Given the description of an element on the screen output the (x, y) to click on. 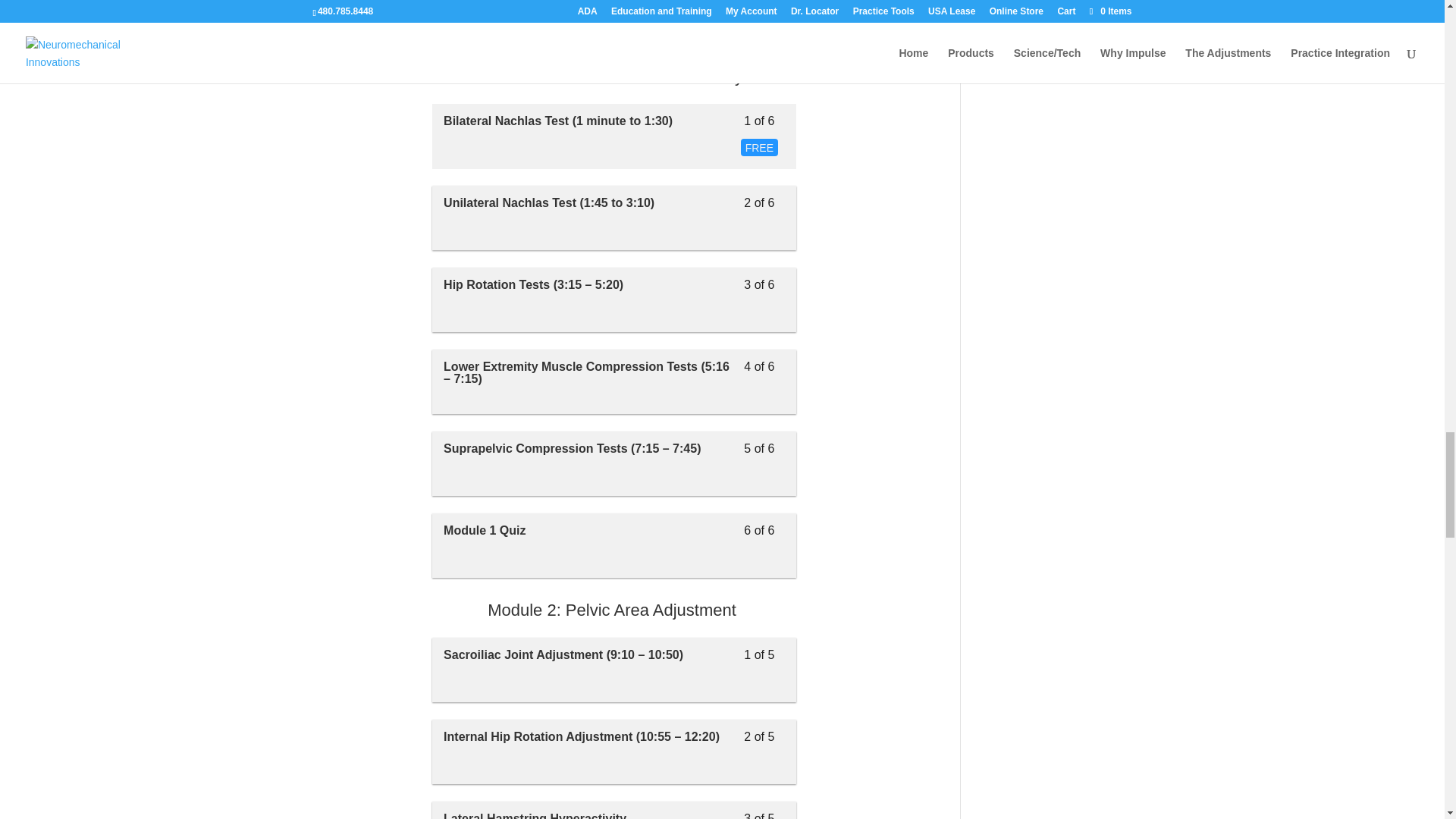
Enroll (463, 27)
Enroll (614, 545)
